Given the description of an element on the screen output the (x, y) to click on. 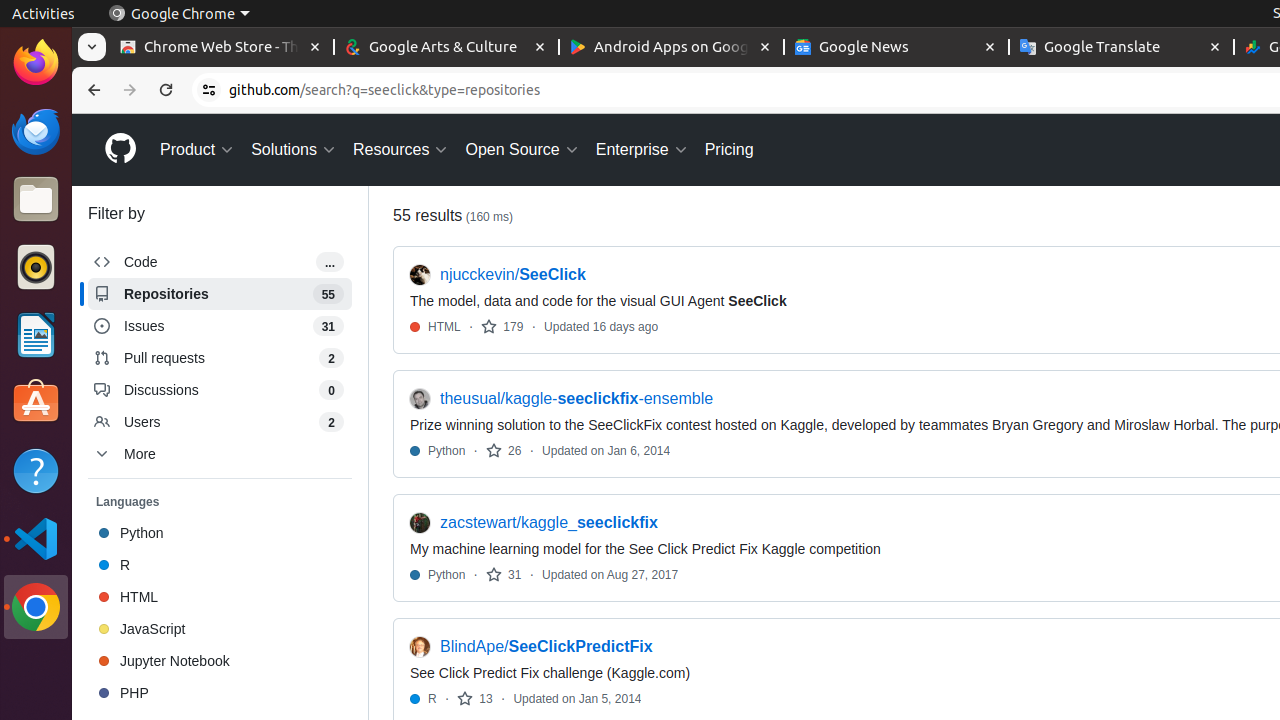
Visual Studio Code Element type: push-button (36, 538)
Pricing Element type: link (729, 150)
njucckevin/SeeClick Element type: link (513, 275)
Pull requests , 2 results  (2) Element type: link (220, 358)
Back Element type: push-button (91, 90)
